Given the description of an element on the screen output the (x, y) to click on. 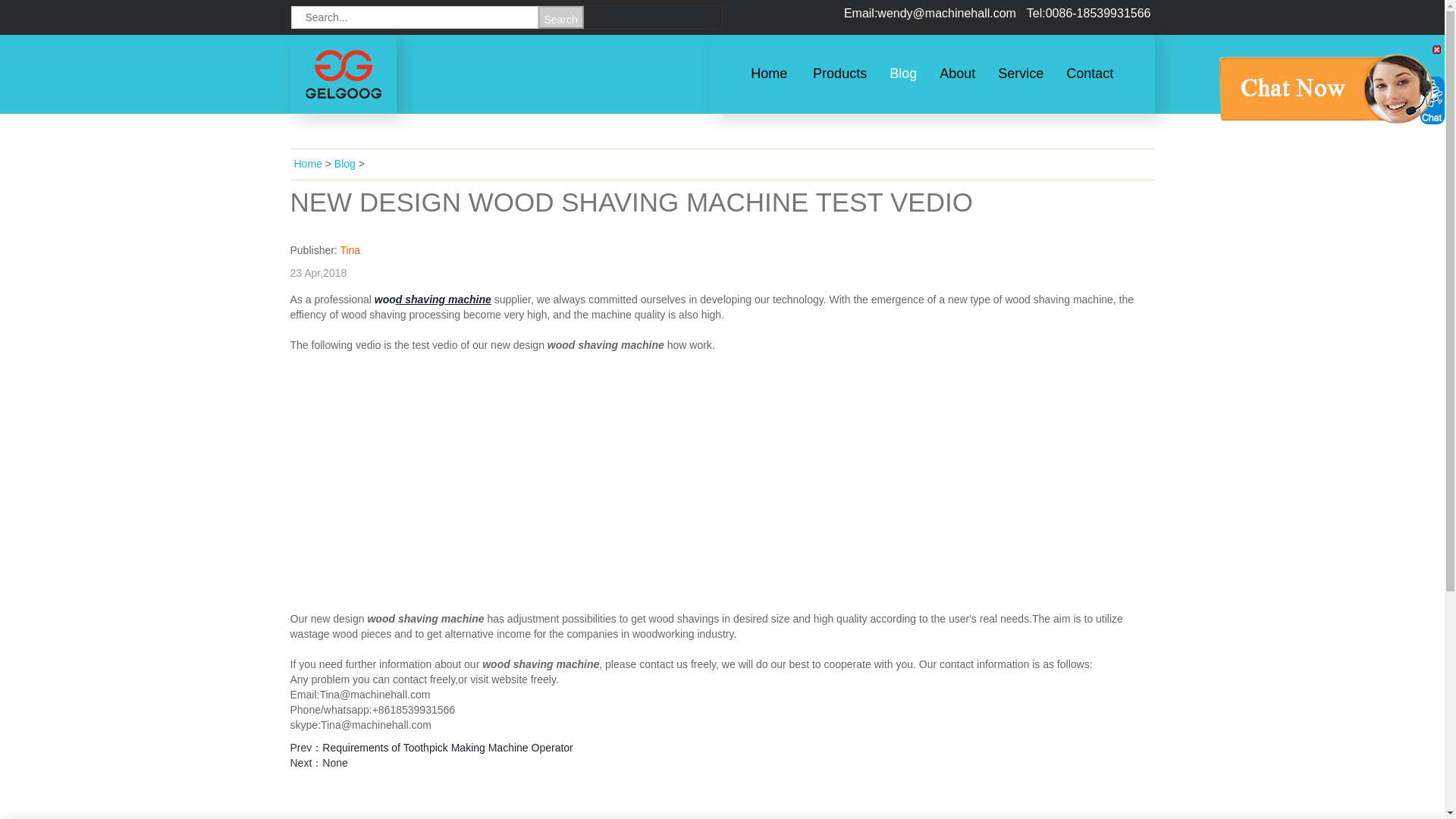
Contact (1089, 73)
Products (839, 73)
Products (839, 73)
Blog (903, 73)
d shaving machine (444, 299)
Service (1020, 73)
Blog (903, 73)
Tel (1088, 12)
woo (383, 299)
Tel:0086-18539931566 (1088, 12)
